Given the description of an element on the screen output the (x, y) to click on. 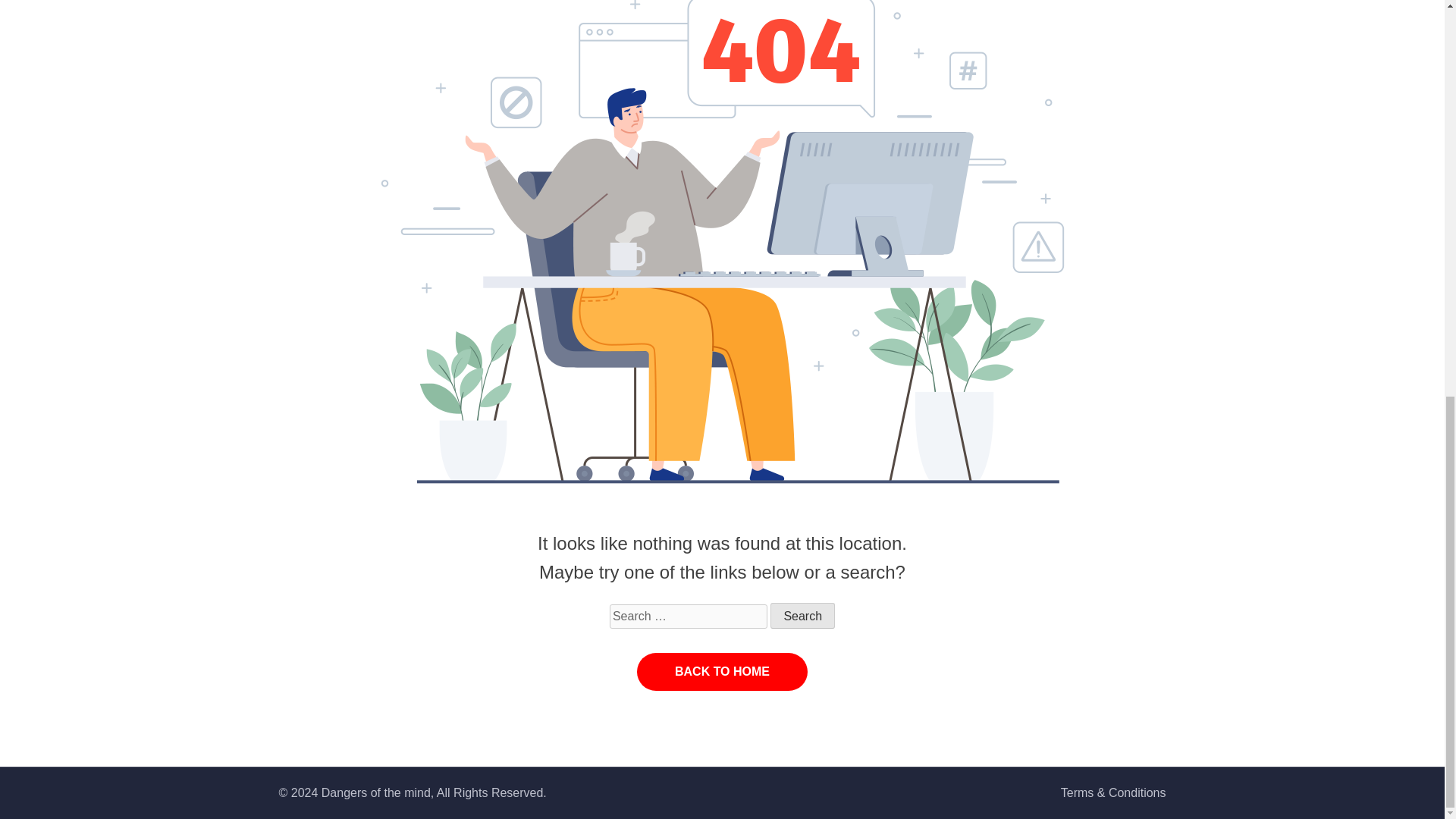
Search (802, 615)
Search (802, 615)
